Given the description of an element on the screen output the (x, y) to click on. 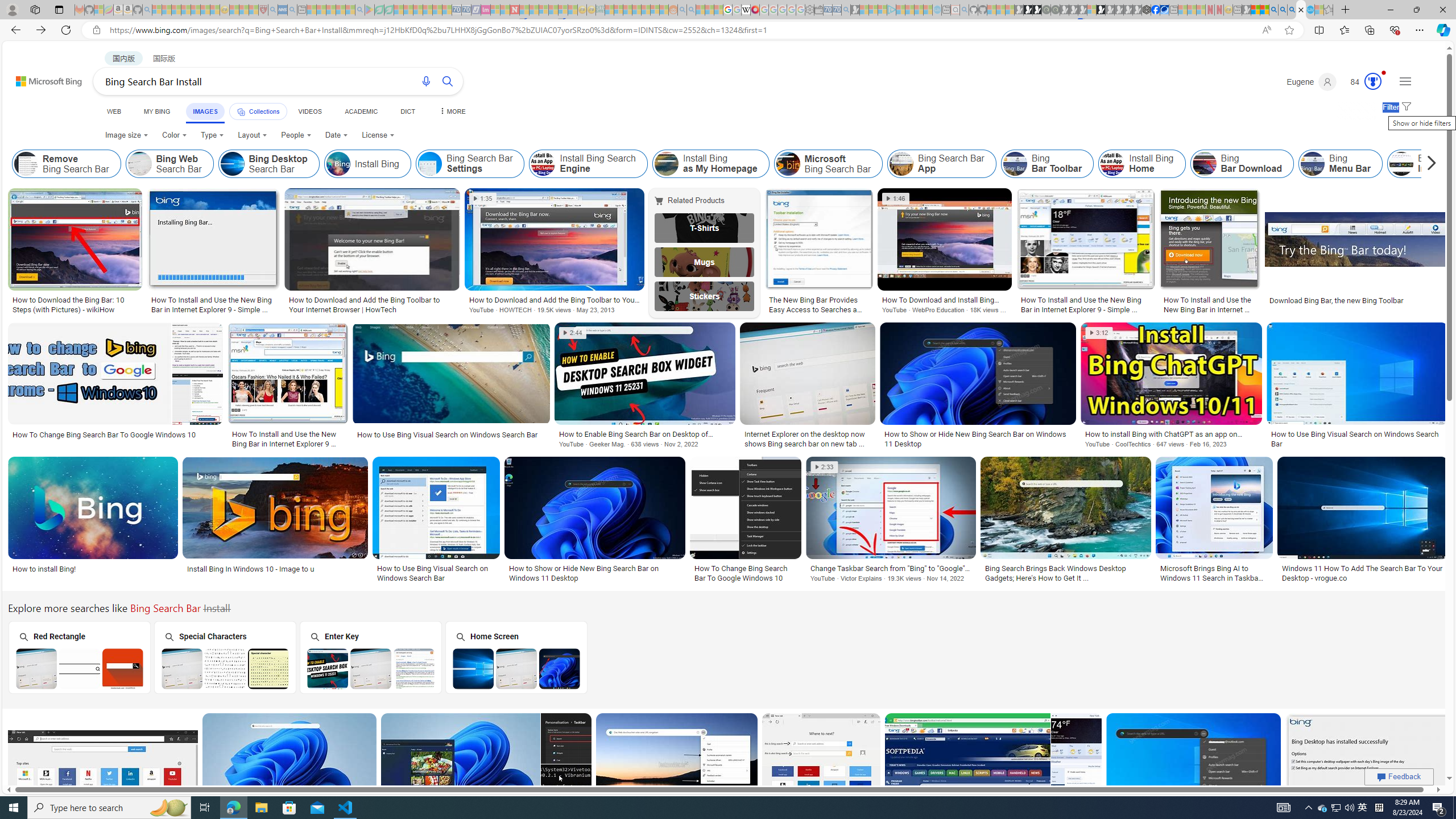
Bing Web Search Bar (168, 163)
Bing Search Bar Settings (429, 163)
Bing Web Search Bar (139, 163)
3:12 (1098, 332)
Bing Bar Toolbar (1014, 163)
People (295, 135)
